Given the description of an element on the screen output the (x, y) to click on. 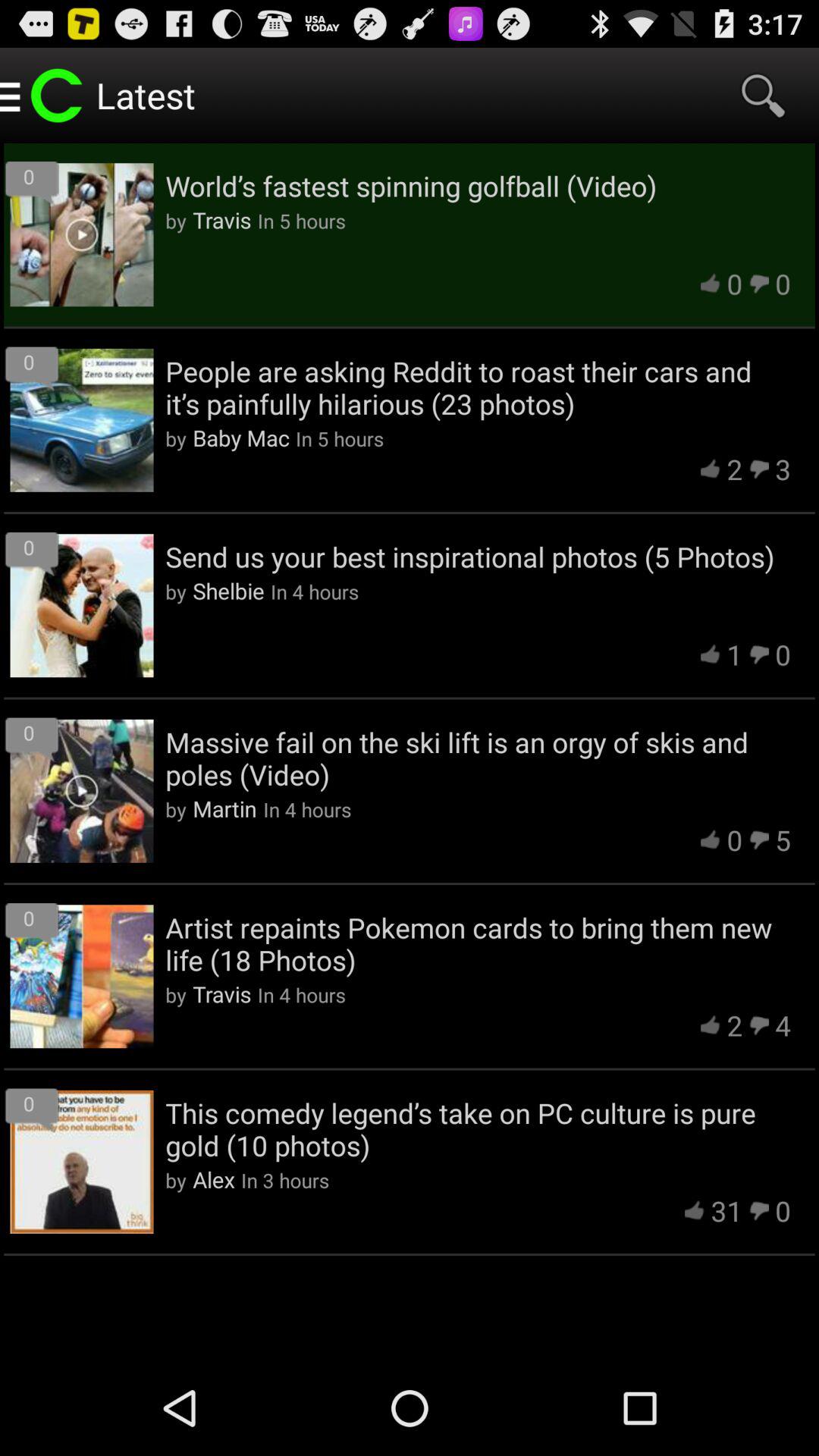
turn off icon below the 1 app (478, 758)
